Given the description of an element on the screen output the (x, y) to click on. 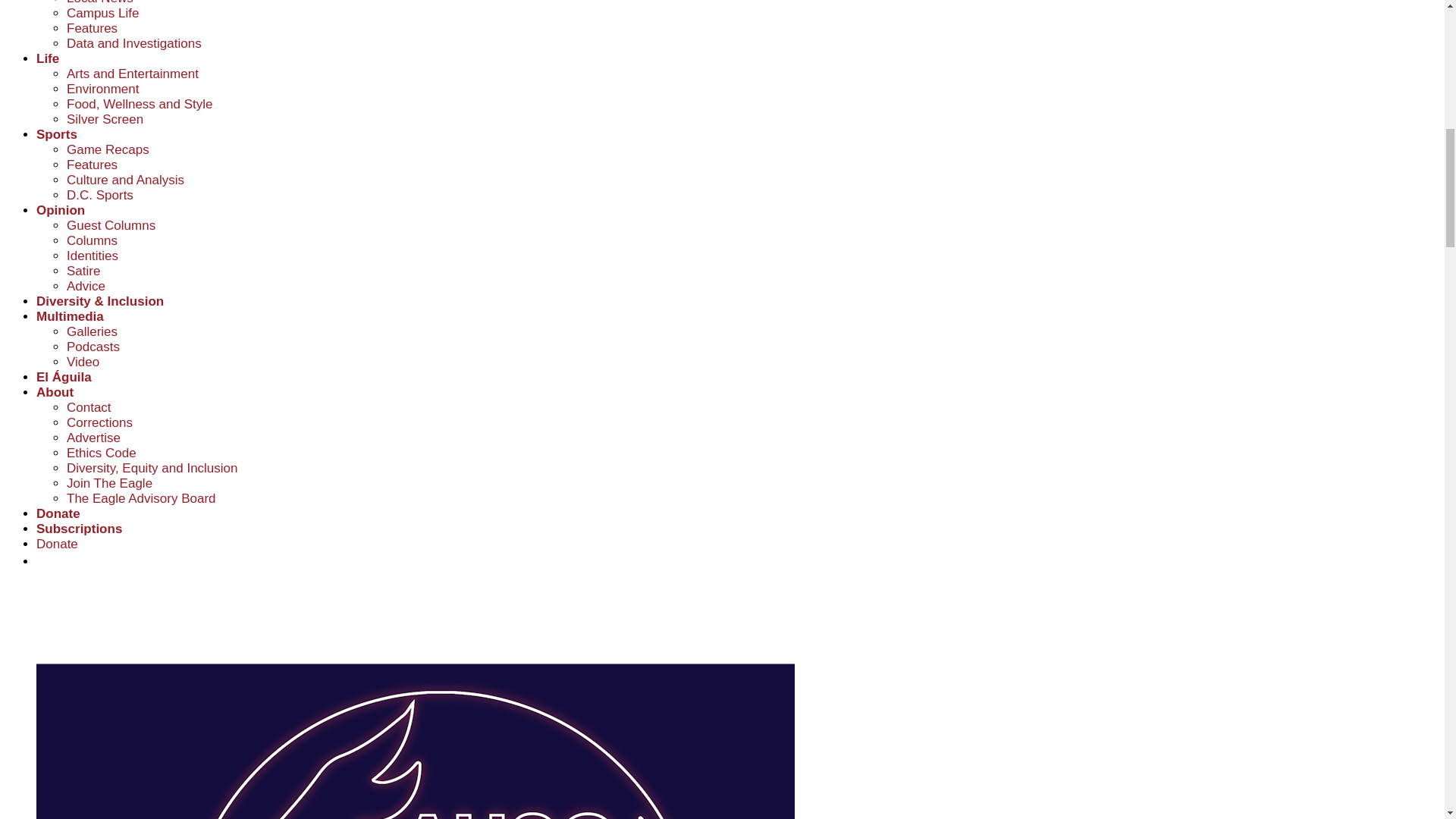
Donate (58, 513)
Donate (57, 544)
Subscriptions (79, 528)
